Given the description of an element on the screen output the (x, y) to click on. 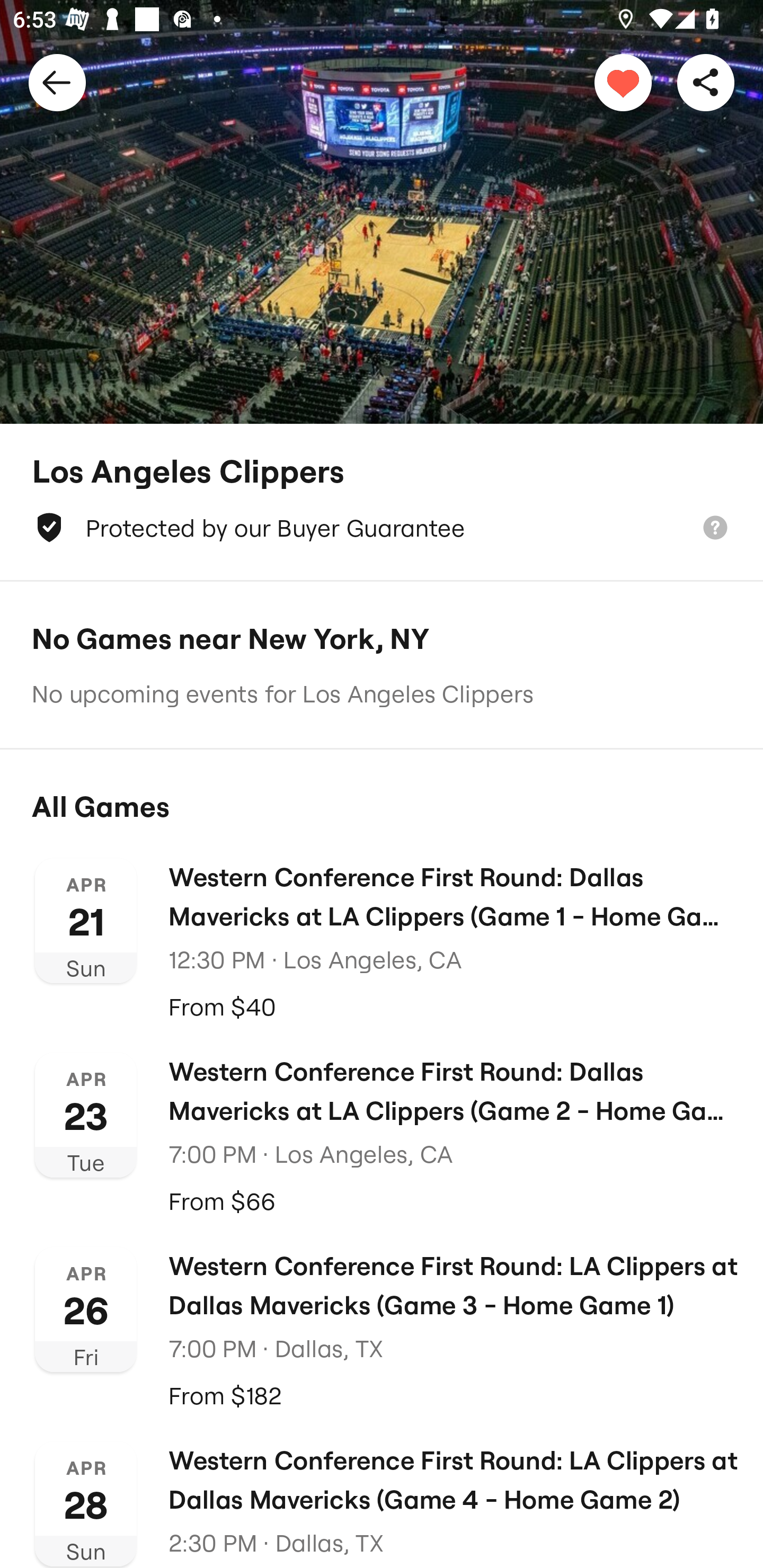
Back (57, 81)
Track this performer (623, 81)
Share this performer (705, 81)
Protected by our Buyer Guarantee Learn more (381, 527)
